Given the description of an element on the screen output the (x, y) to click on. 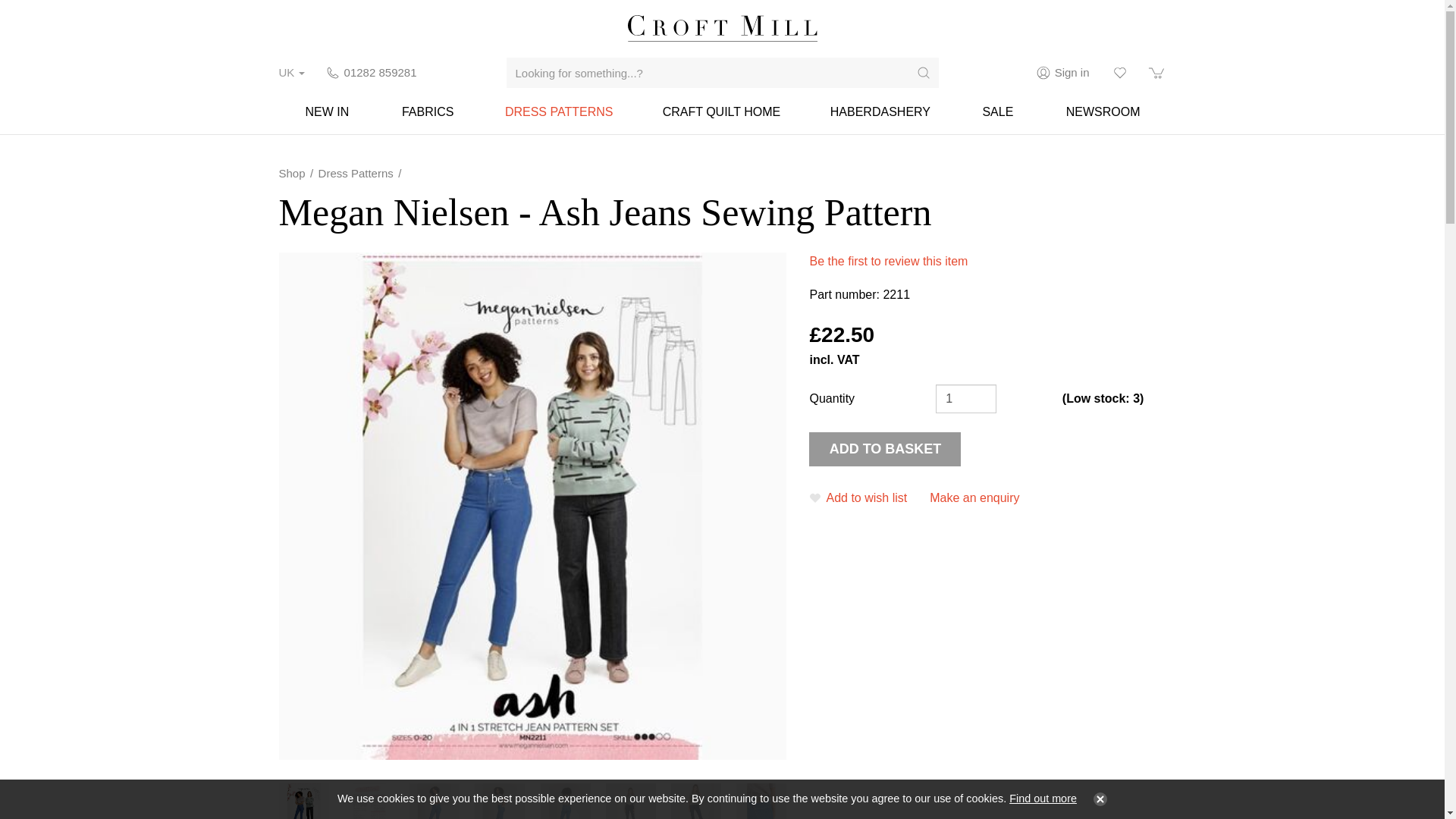
Ash Jeans Pattern By Megan Nielsen MNP2211 6 (761, 796)
Add to basket (884, 449)
Ash Jeans Pattern By Megan Nielsen MNP2211 3 (564, 796)
NEW IN (327, 111)
Sign in (1062, 72)
Ash Jeans Pattern By Megan Nielsen MNP2211 1 (434, 796)
